Given the description of an element on the screen output the (x, y) to click on. 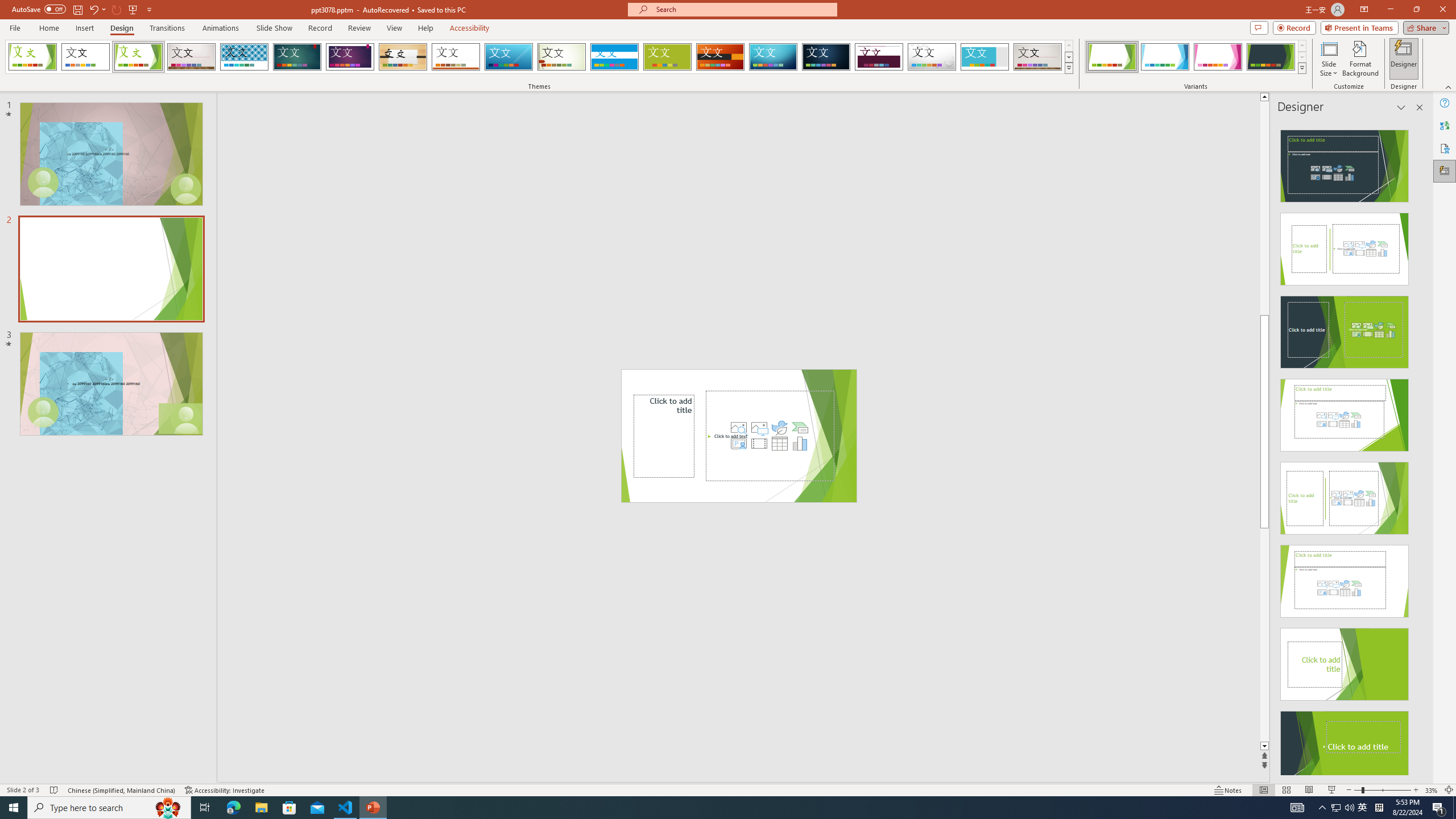
Insert Video (758, 443)
Recommended Design: Design Idea (1344, 162)
Insert Chart (799, 443)
Design Idea (1344, 743)
Content Placeholder (770, 435)
Facet Variant 4 (1270, 56)
AutomationID: ThemeVariantsGallery (1195, 56)
Facet (138, 56)
